Given the description of an element on the screen output the (x, y) to click on. 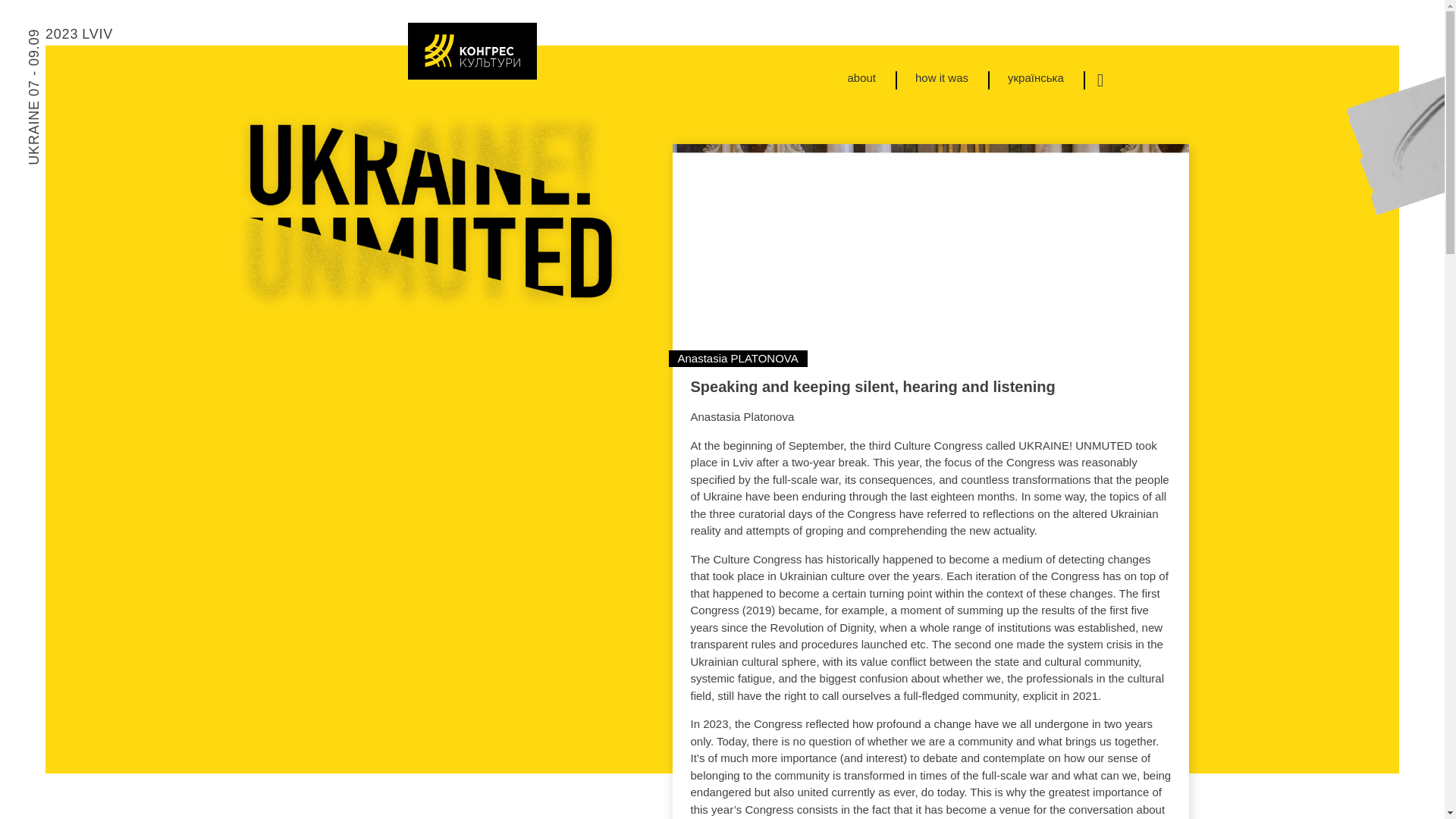
about (861, 78)
how it was (940, 78)
